Given the description of an element on the screen output the (x, y) to click on. 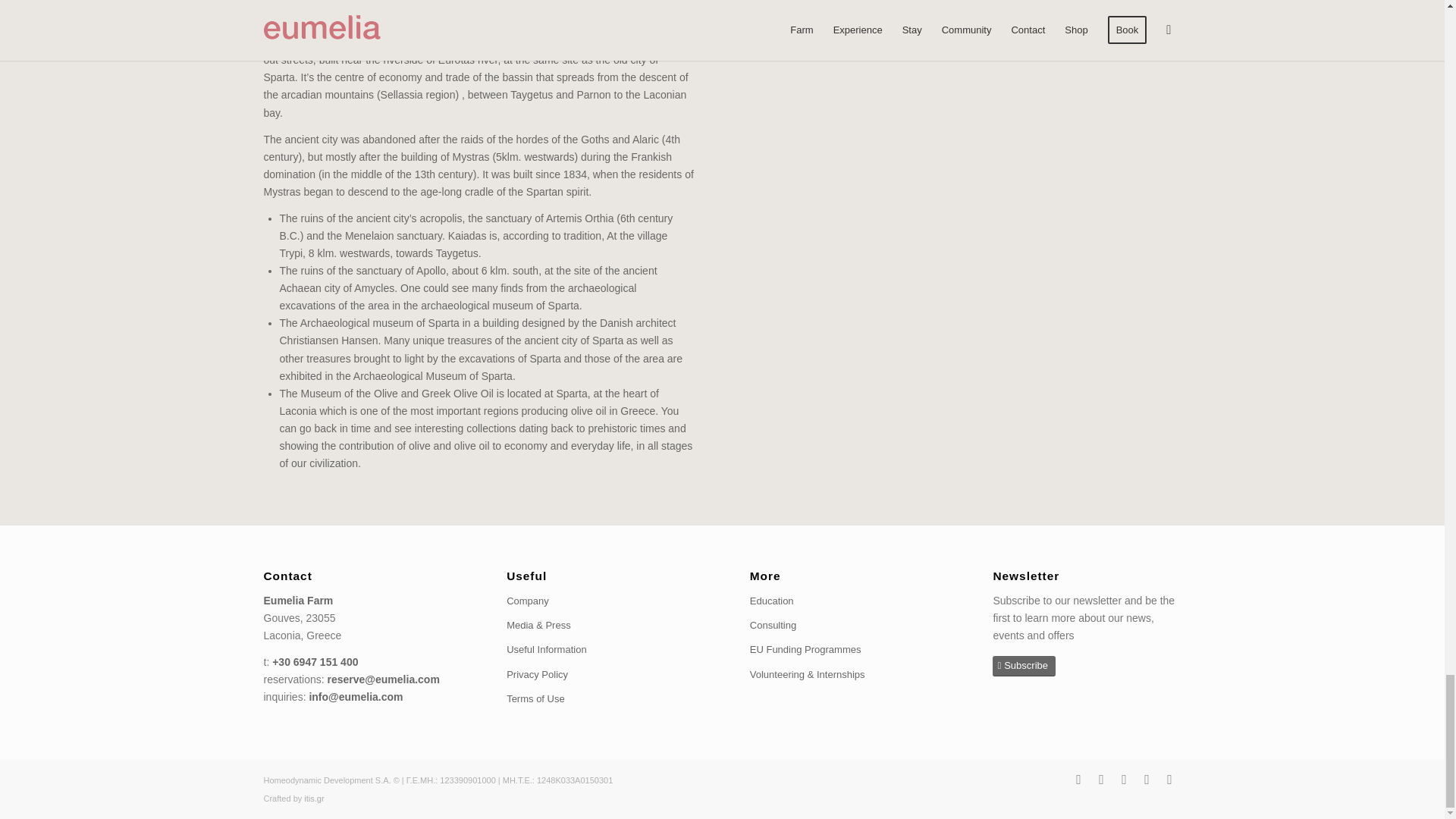
Company (600, 600)
Terms of Use (600, 699)
Privacy Policy (600, 674)
Education (843, 600)
Consulting (843, 625)
Useful Information (600, 649)
EU Funding Programmes (843, 649)
